Given the description of an element on the screen output the (x, y) to click on. 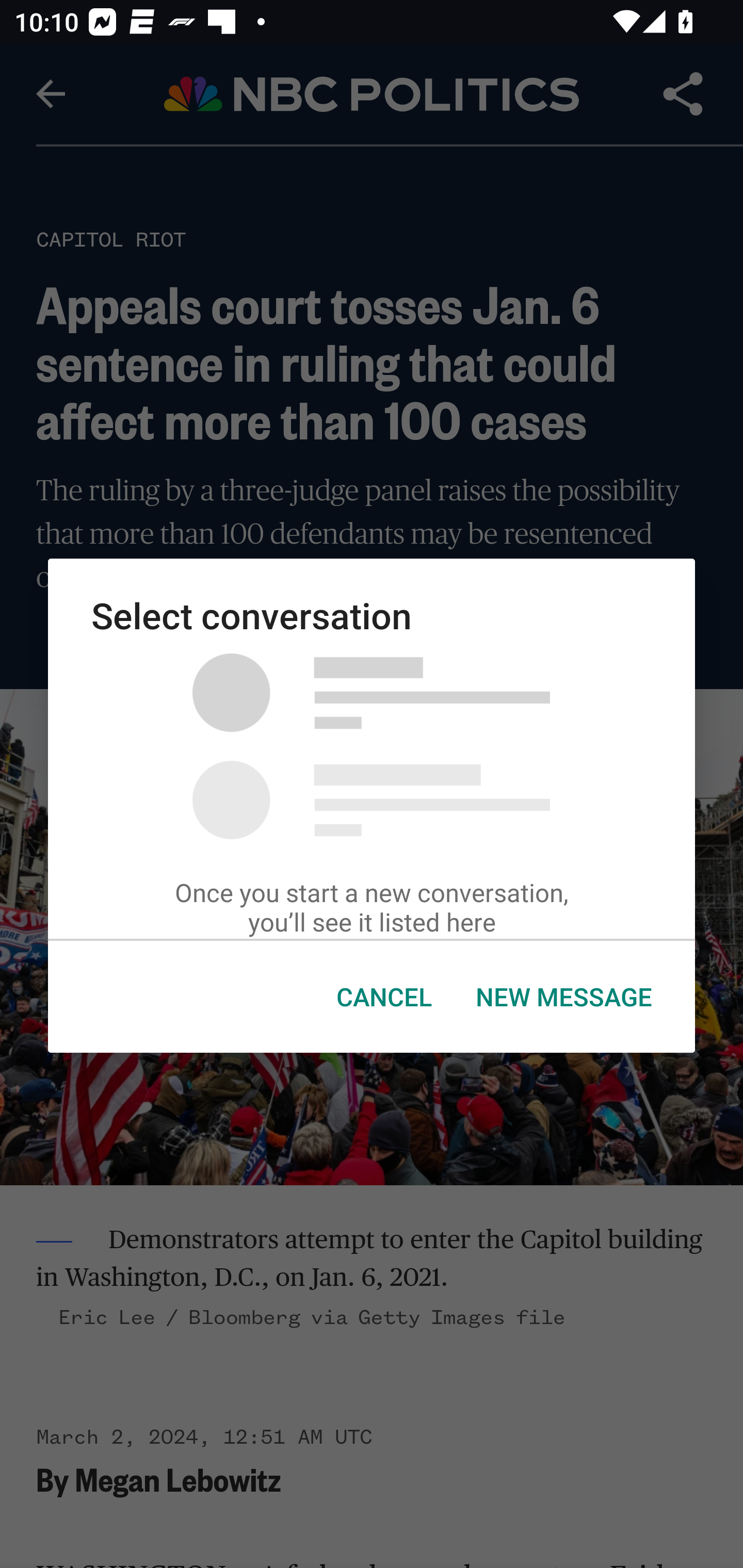
CANCEL (384, 996)
NEW MESSAGE (563, 996)
